Given the description of an element on the screen output the (x, y) to click on. 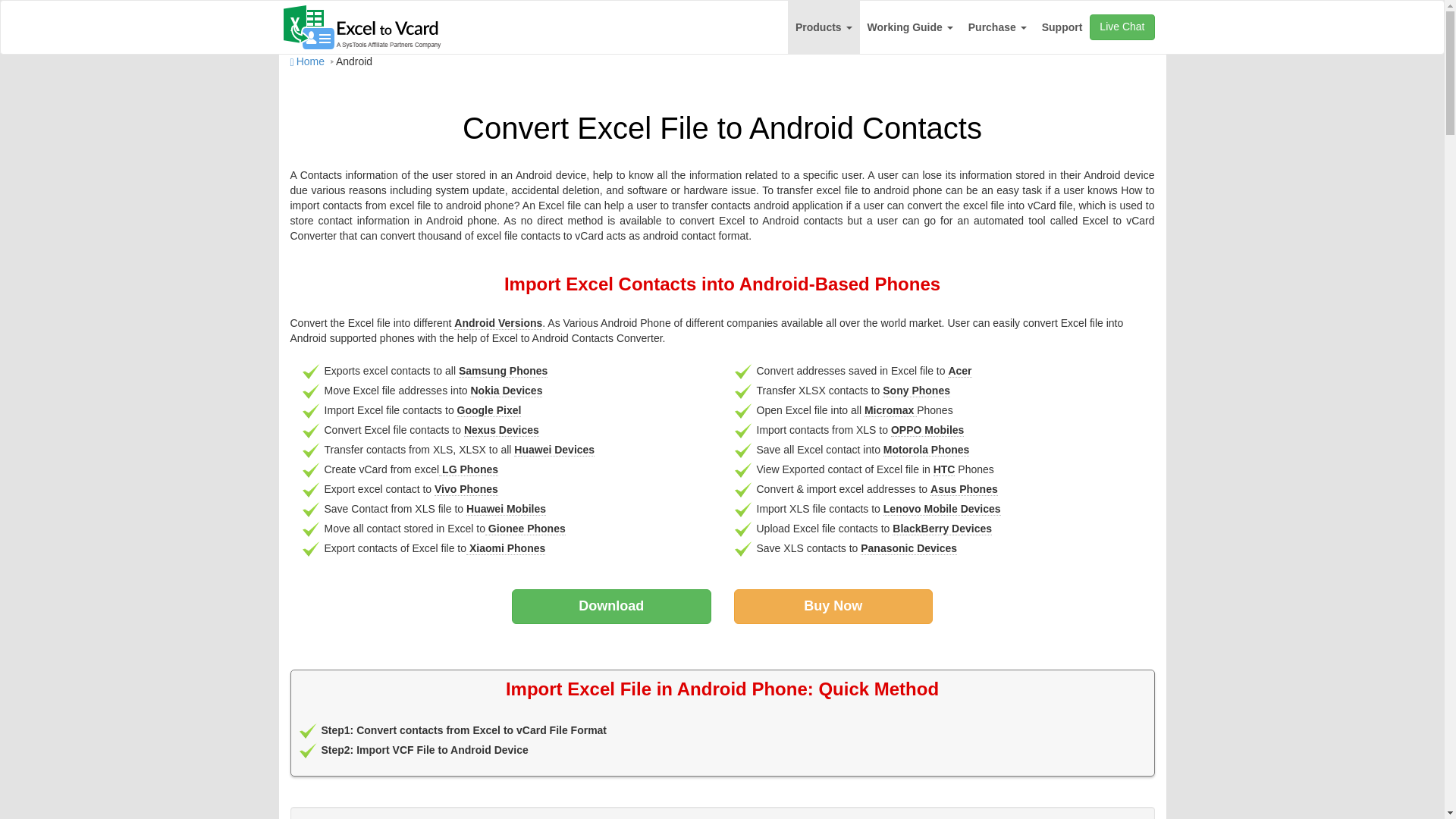
Purchase (996, 27)
Download (611, 606)
Working Guide (910, 27)
Support (1061, 27)
Products (823, 27)
Buy Now (833, 606)
Home (306, 61)
Buy Now (833, 606)
Live Chat (1121, 27)
